Given the description of an element on the screen output the (x, y) to click on. 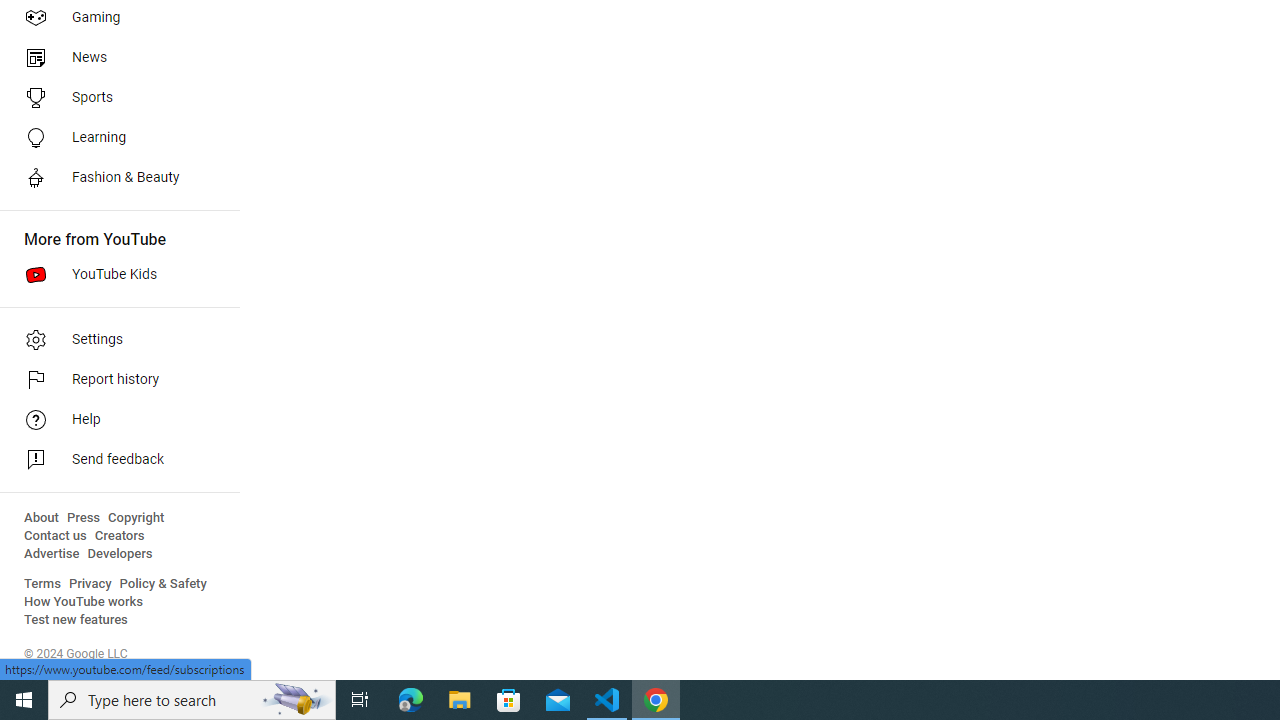
Press (83, 518)
Report history (113, 380)
Copyright (136, 518)
News (113, 57)
